Given the description of an element on the screen output the (x, y) to click on. 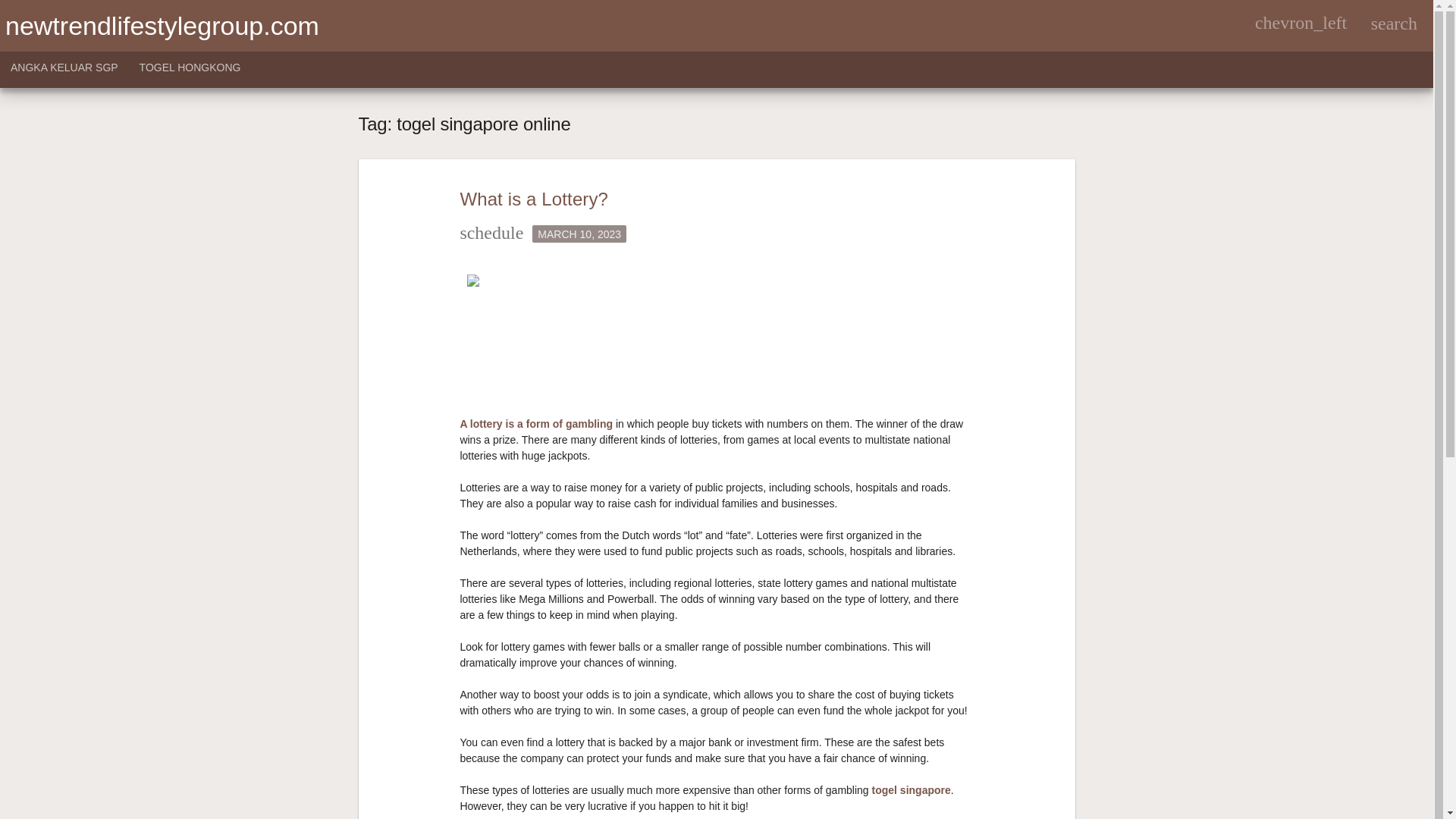
TOGEL HONGKONG (190, 69)
MARCH 10, 2023 (579, 232)
togel singapore (911, 789)
ANGKA KELUAR SGP (64, 69)
What is a Lottery? (534, 199)
A lottery is a form of gambling (536, 423)
newtrendlifestylegroup.com (161, 25)
search (1393, 22)
